Given the description of an element on the screen output the (x, y) to click on. 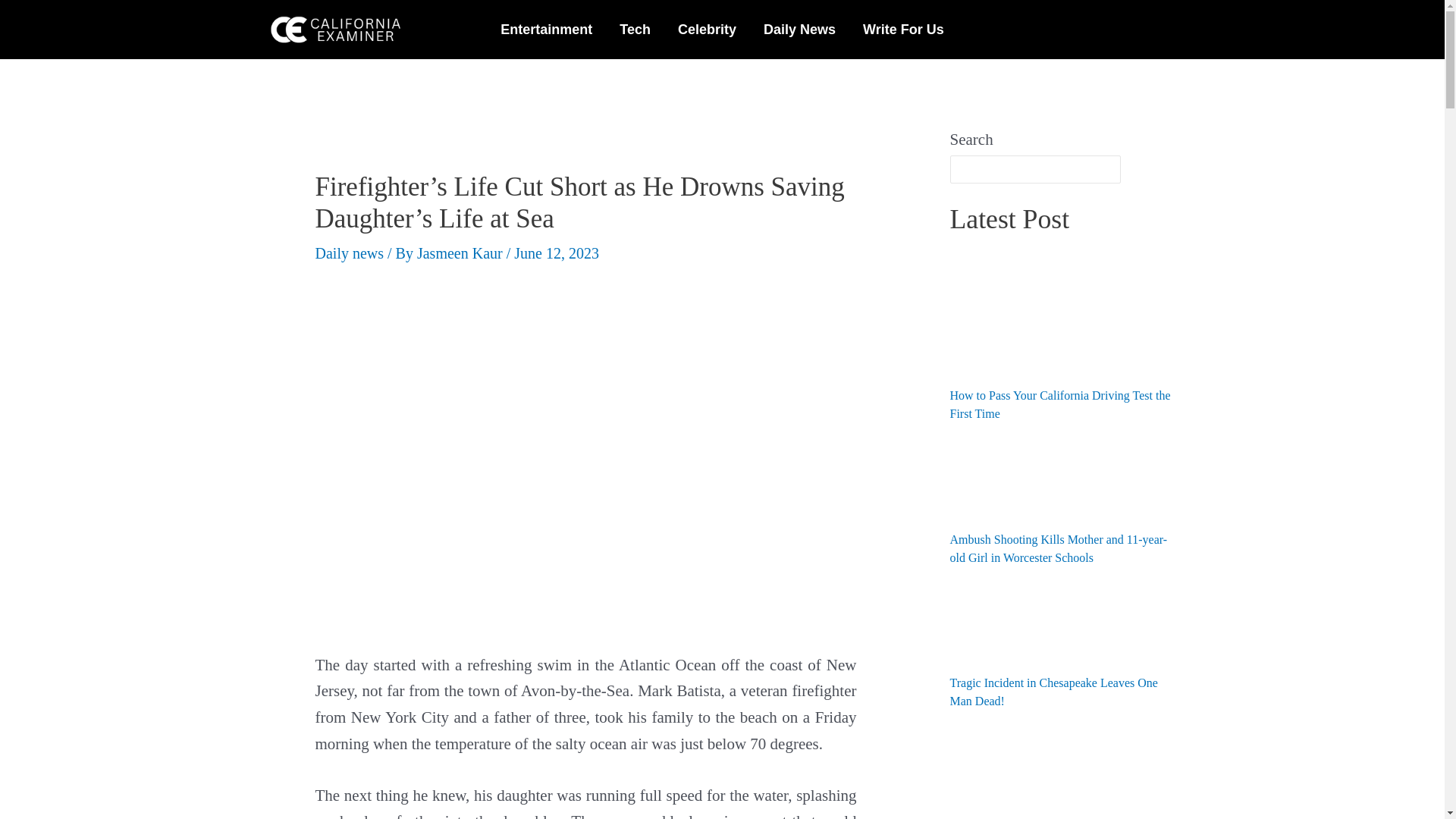
Jasmeen Kaur (461, 252)
Celebrity (706, 29)
Entertainment (545, 29)
Write For Us (903, 29)
Daily News (798, 29)
Daily news (349, 252)
View all posts by Jasmeen Kaur (461, 252)
Tech (634, 29)
